Given the description of an element on the screen output the (x, y) to click on. 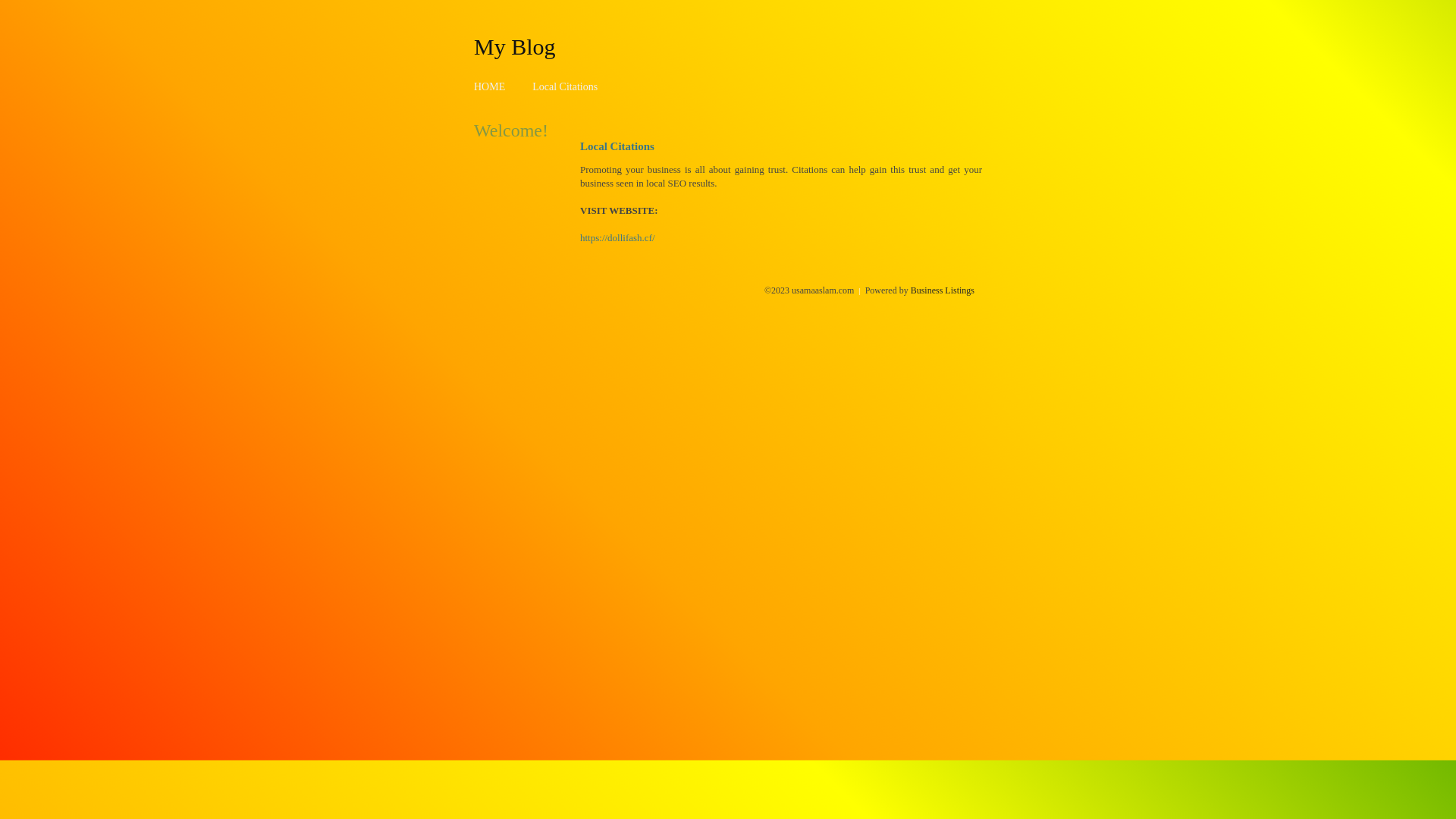
Business Listings Element type: text (942, 290)
https://dollifash.cf/ Element type: text (617, 237)
My Blog Element type: text (514, 46)
Local Citations Element type: text (564, 86)
HOME Element type: text (489, 86)
